Given the description of an element on the screen output the (x, y) to click on. 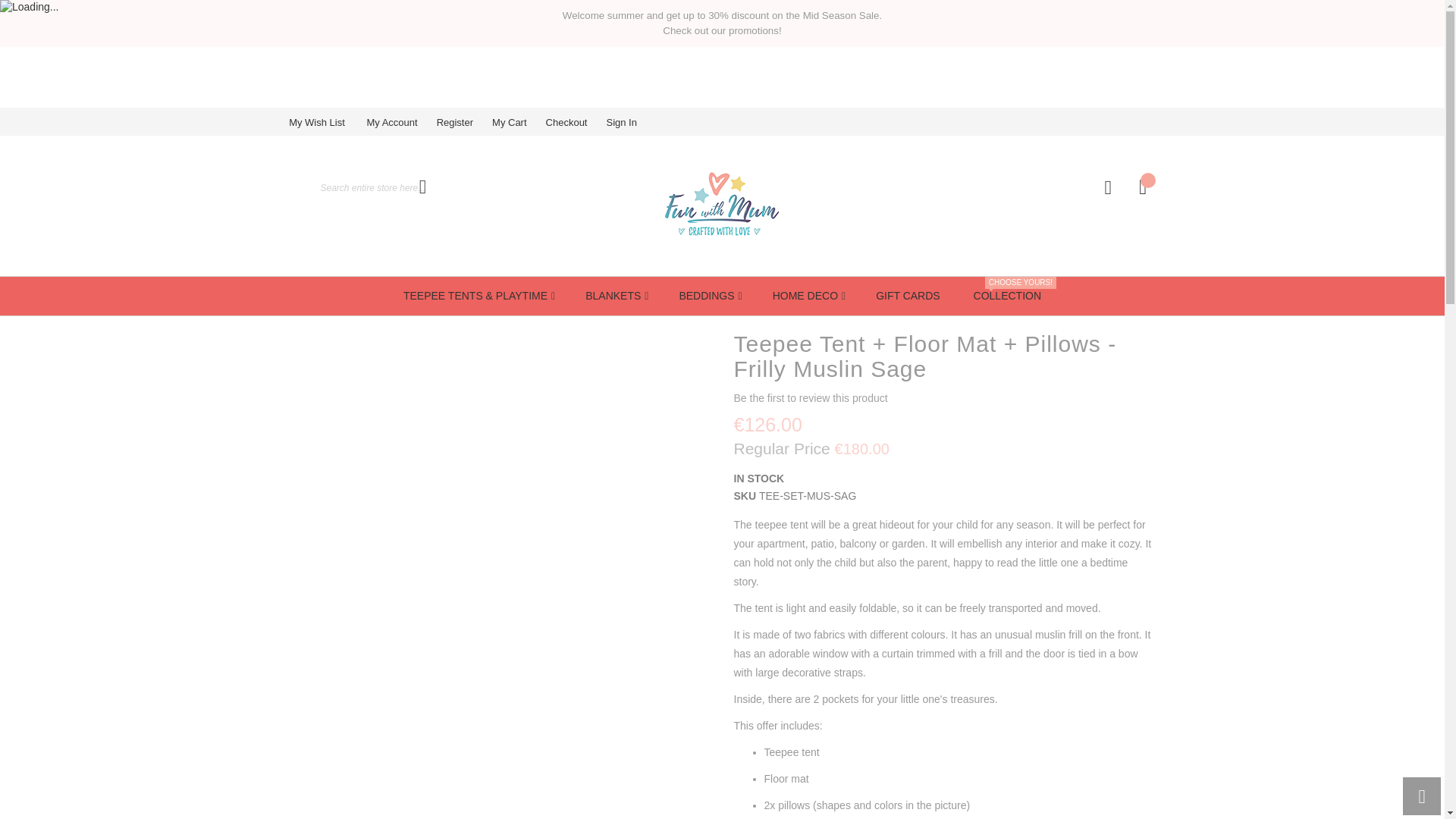
Check out our promotions! (721, 30)
My Wish List (326, 122)
Search (421, 186)
mid season sale (722, 15)
Checkout (576, 122)
My Cart (519, 122)
Sign In (630, 122)
mid season sale (721, 30)
Availability (943, 478)
My Account (400, 122)
Register (464, 122)
SEARCH (421, 186)
